Given the description of an element on the screen output the (x, y) to click on. 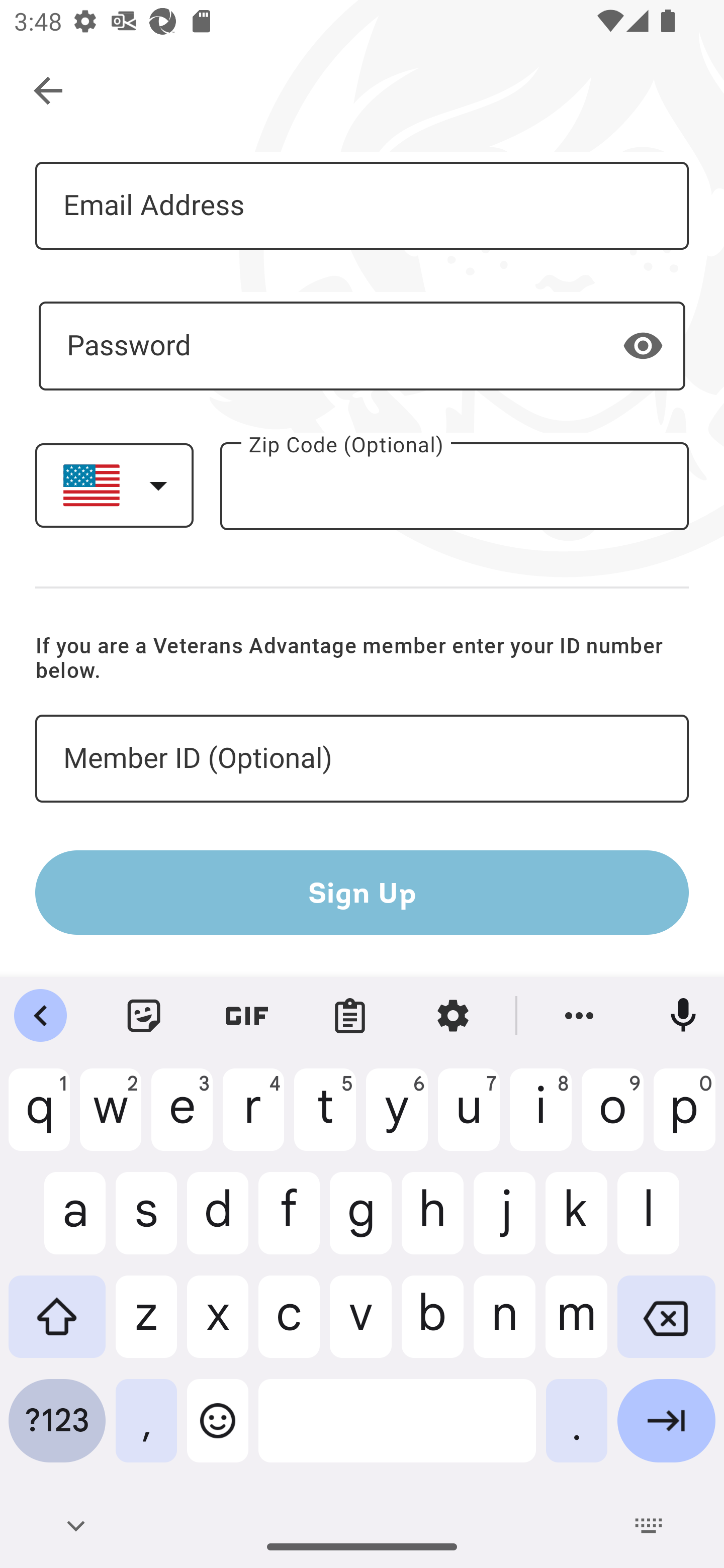
Navigate up (49, 91)
Email Address - Required (361, 205)
- Required (361, 345)
Show password (642, 345)
Zip Code – Optional (454, 485)
Select a country. United States selected. (114, 485)
Veterans Advantage ID – Optional (361, 758)
Sign Up (361, 891)
